Given the description of an element on the screen output the (x, y) to click on. 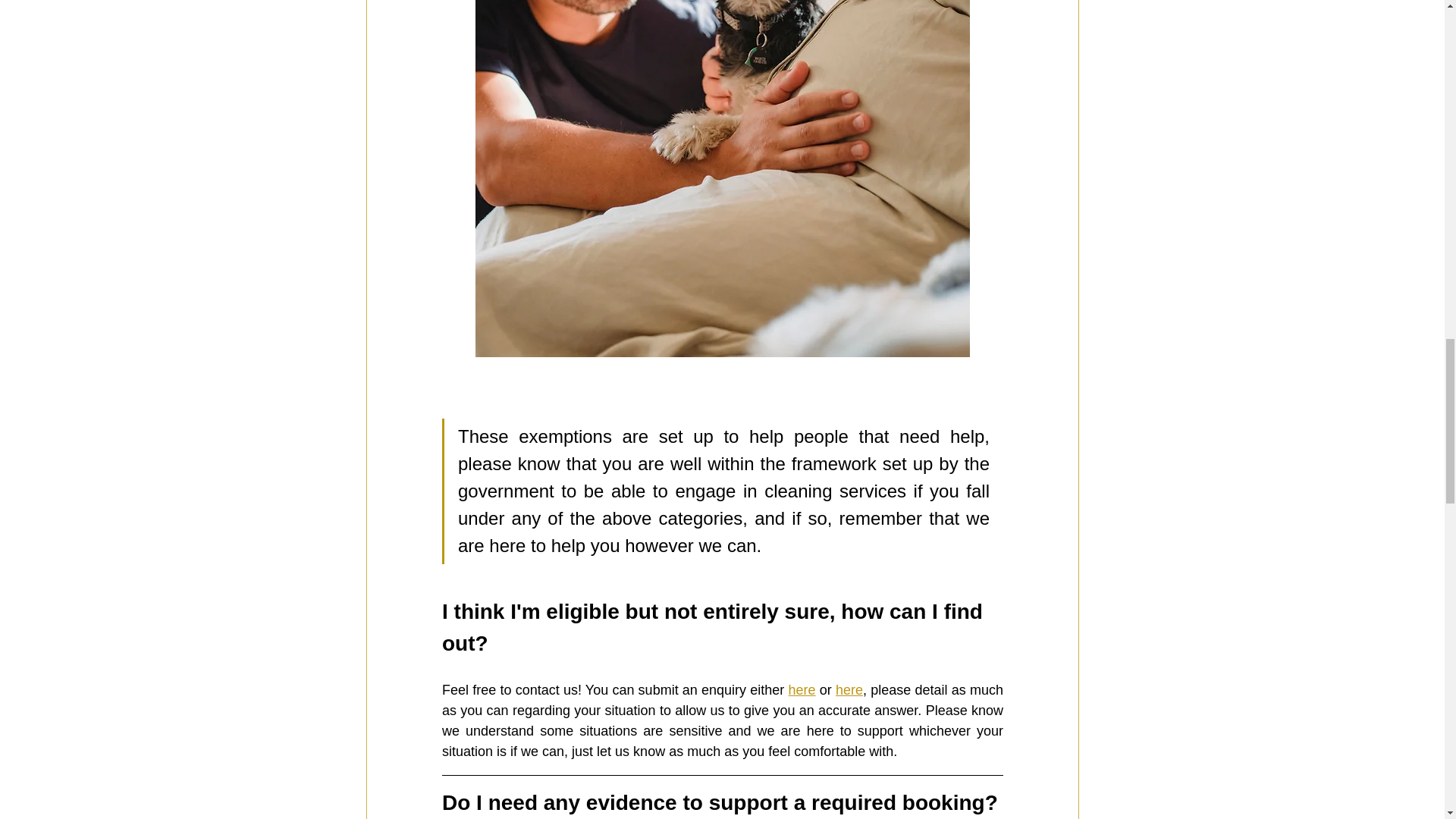
here (801, 689)
here (849, 689)
